Given the description of an element on the screen output the (x, y) to click on. 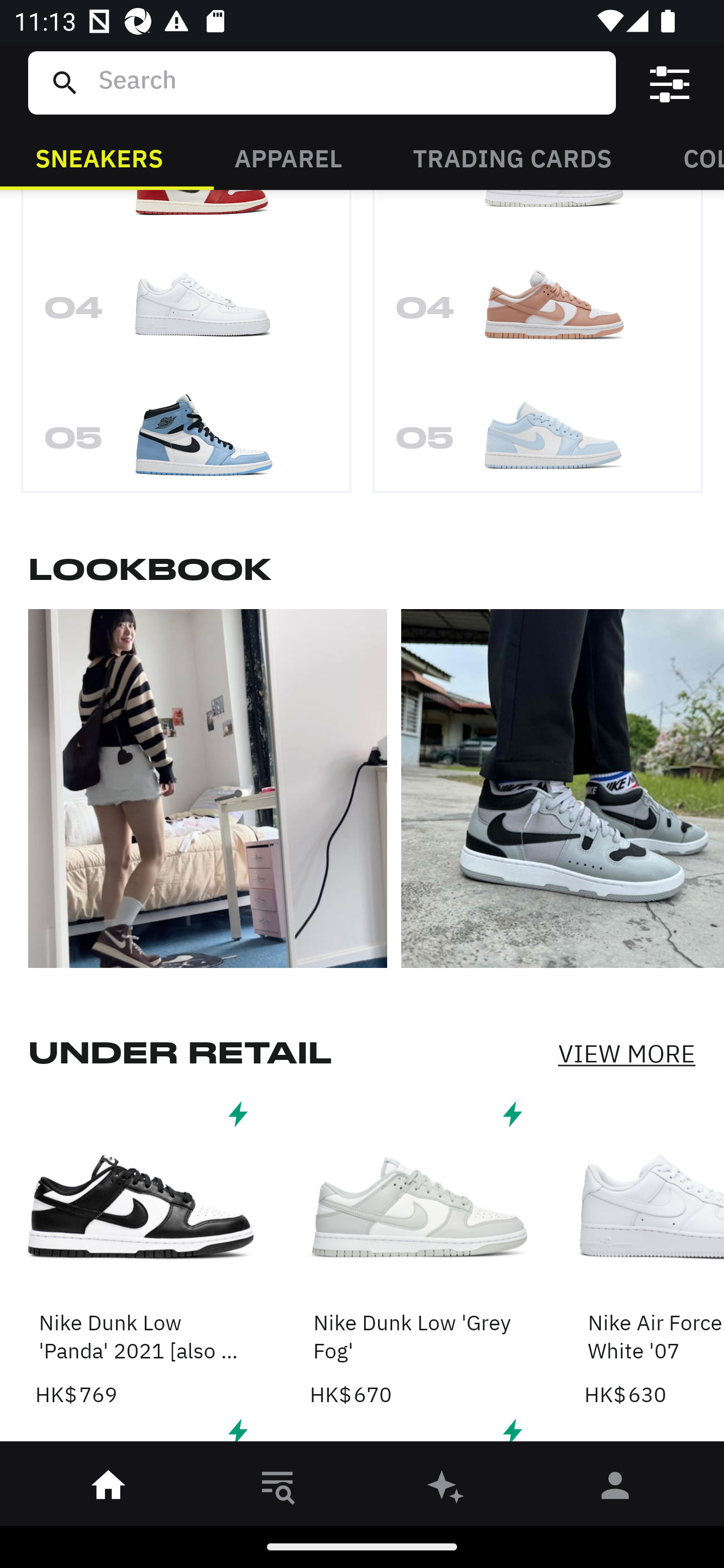
Search (349, 82)
 (669, 82)
SNEAKERS (99, 156)
APPAREL (287, 156)
TRADING CARDS (512, 156)
04 (186, 314)
04 (538, 314)
05 (186, 434)
05 (538, 434)
VIEW MORE (626, 1053)
 Nike Dunk Low 'Grey Fog' HK$ 670 (414, 1251)
Nike Air Force 1 Low White '07 HK$ 630 (654, 1251)
󰋜 (108, 1488)
󱎸 (277, 1488)
󰫢 (446, 1488)
󰀄 (615, 1488)
